Given the description of an element on the screen output the (x, y) to click on. 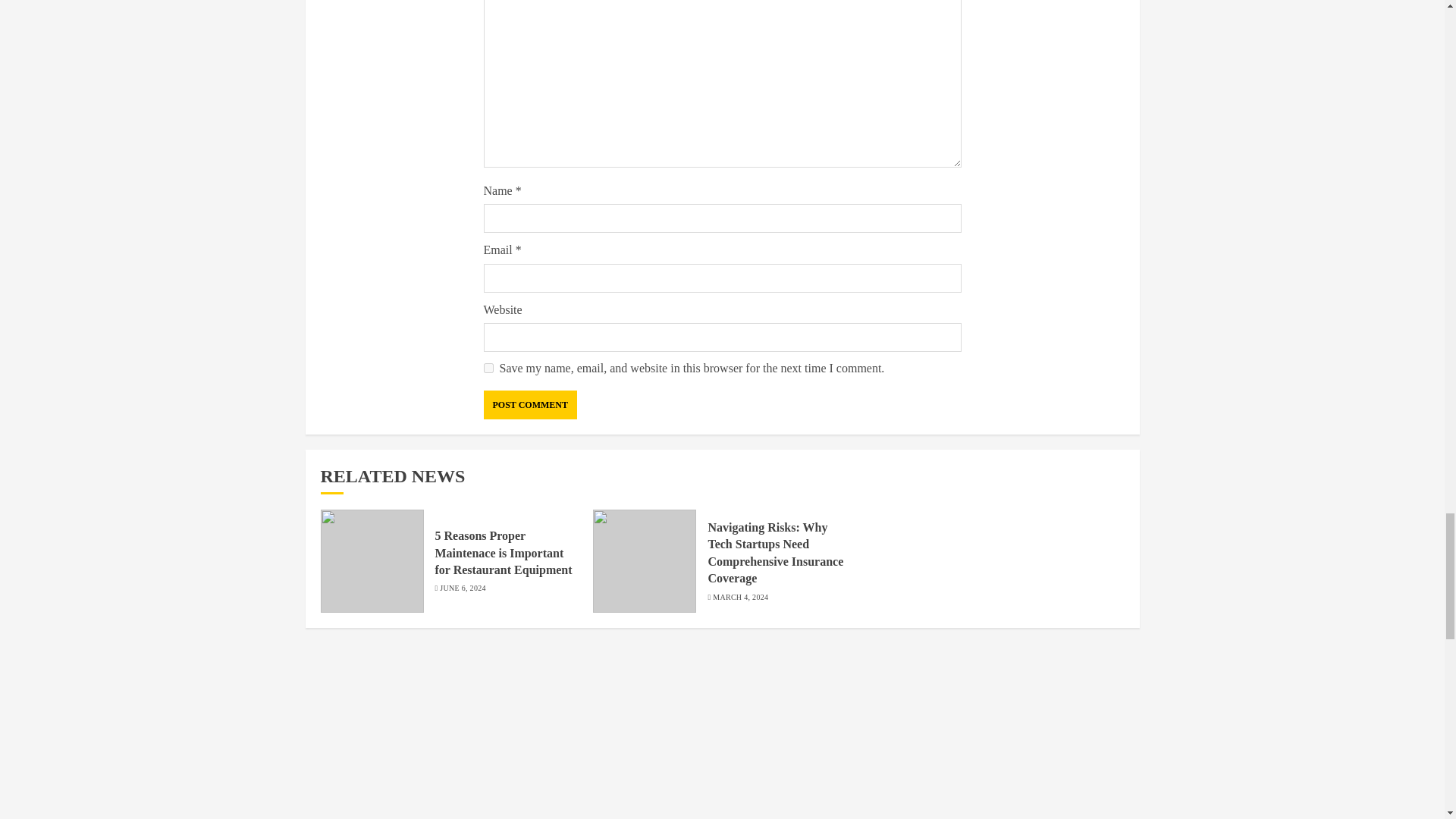
yes (488, 368)
Post Comment (529, 404)
JUNE 6, 2024 (462, 588)
Post Comment (529, 404)
MARCH 4, 2024 (740, 596)
